Given the description of an element on the screen output the (x, y) to click on. 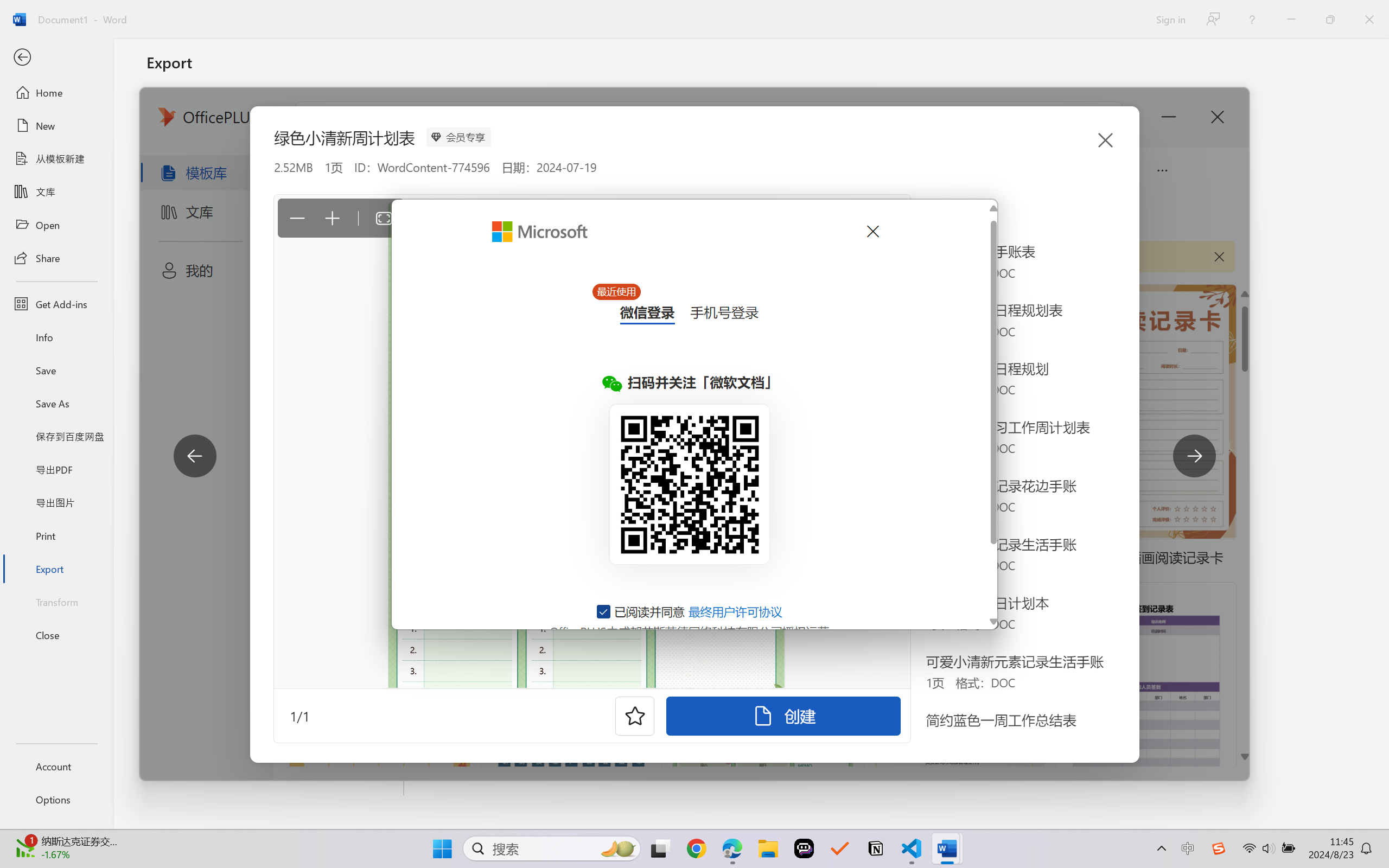
Print (56, 535)
